Given the description of an element on the screen output the (x, y) to click on. 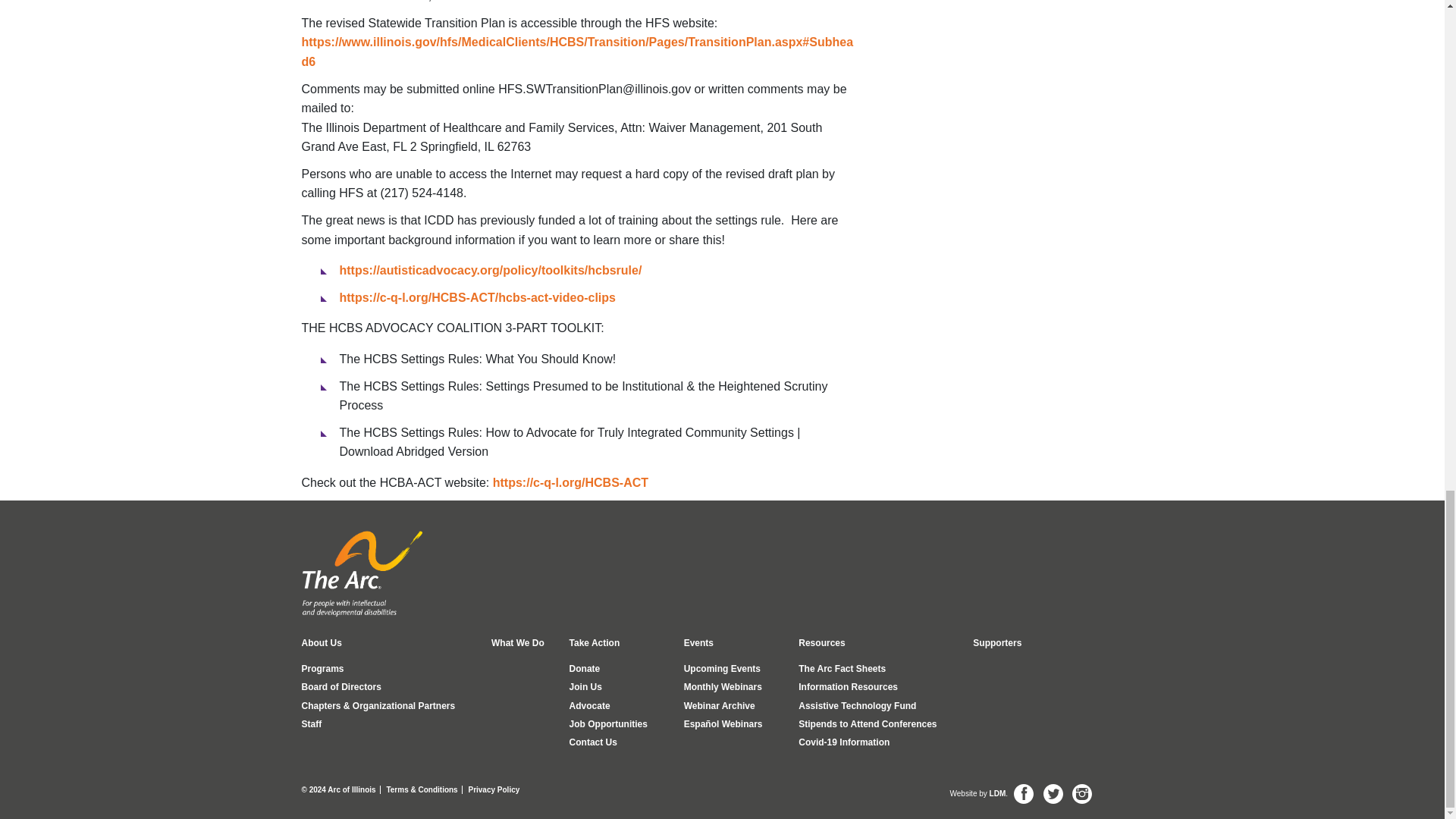
Chicago Digital Marketing Agency (998, 793)
